Given the description of an element on the screen output the (x, y) to click on. 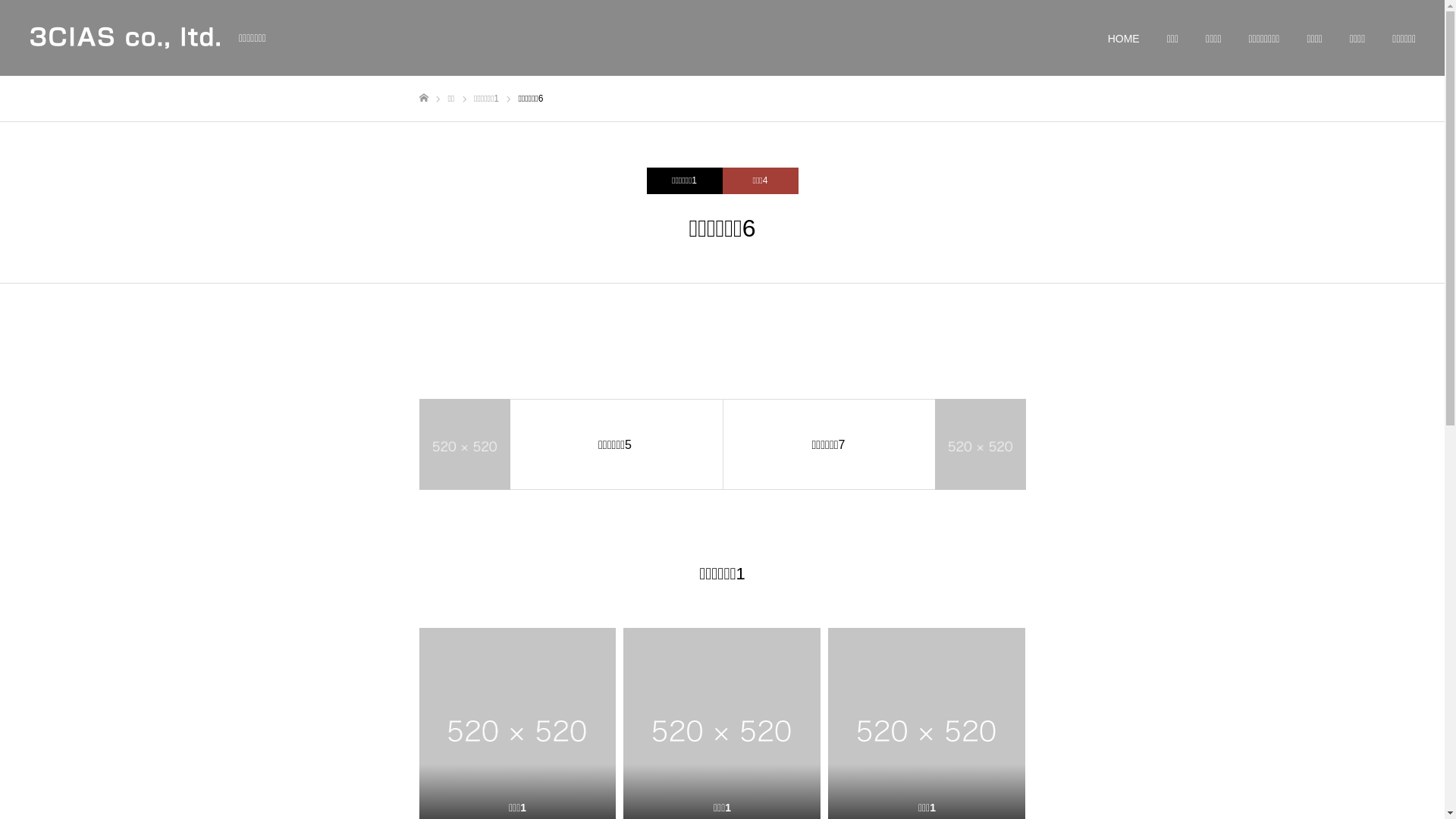
HOME Element type: text (1123, 38)
